Given the description of an element on the screen output the (x, y) to click on. 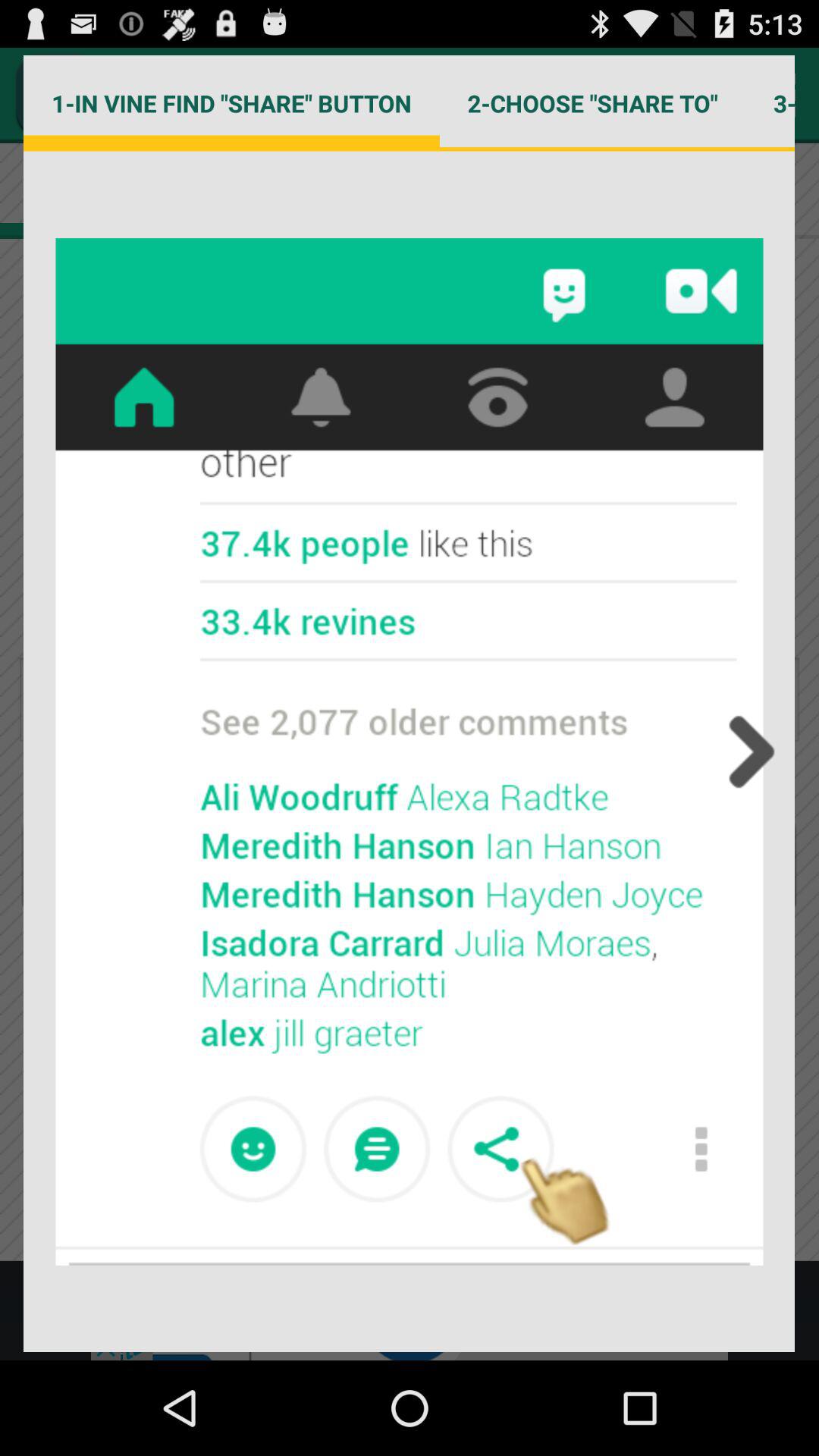
turn off the icon next to the 1 in vine item (592, 103)
